Given the description of an element on the screen output the (x, y) to click on. 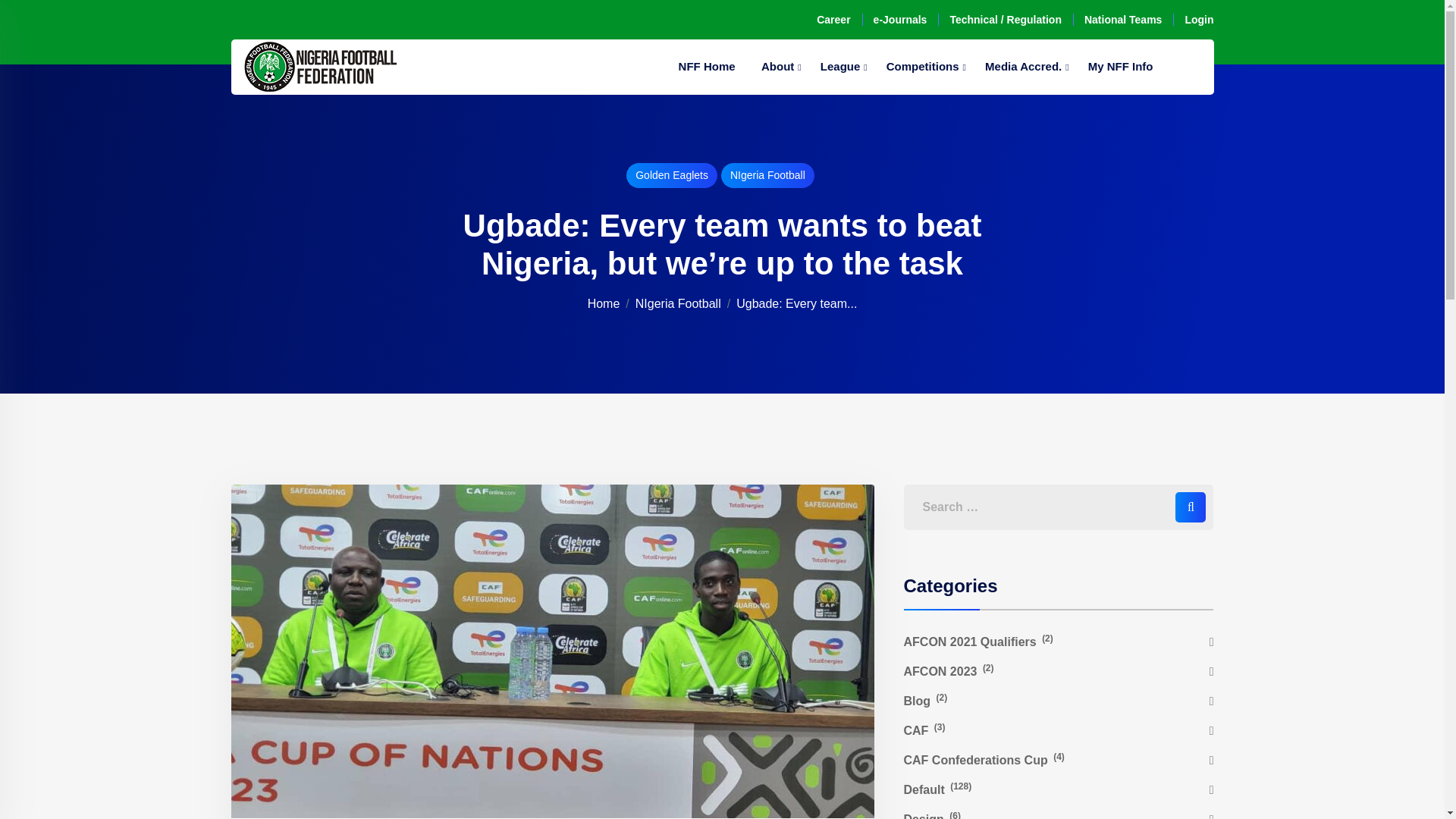
Login (1198, 19)
League (840, 67)
NFF Home (706, 67)
Career (833, 19)
Competitions (923, 67)
About (777, 67)
e-Journals (900, 19)
NFF Home (706, 67)
League (840, 67)
Competitions (923, 67)
National Teams (1122, 19)
About (777, 67)
My NFF Info (1120, 67)
Media Accred. (1023, 67)
